Given the description of an element on the screen output the (x, y) to click on. 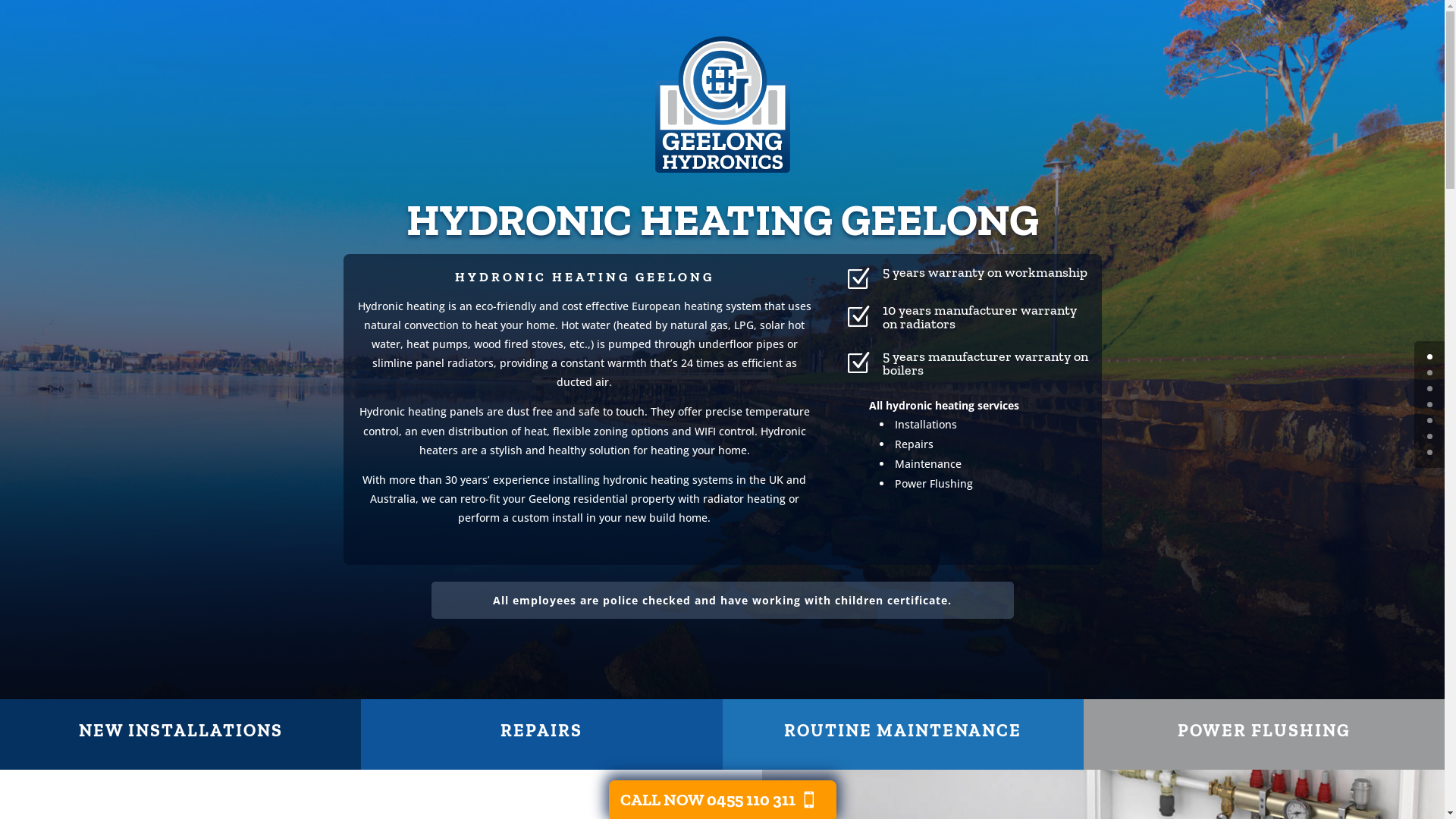
3 Element type: text (1429, 404)
5 Element type: text (1429, 436)
6 Element type: text (1429, 452)
4 Element type: text (1429, 420)
2 Element type: text (1429, 388)
Hydronic Heating Geelong Element type: hover (721, 103)
0 Element type: text (1429, 356)
1 Element type: text (1429, 372)
